Given the description of an element on the screen output the (x, y) to click on. 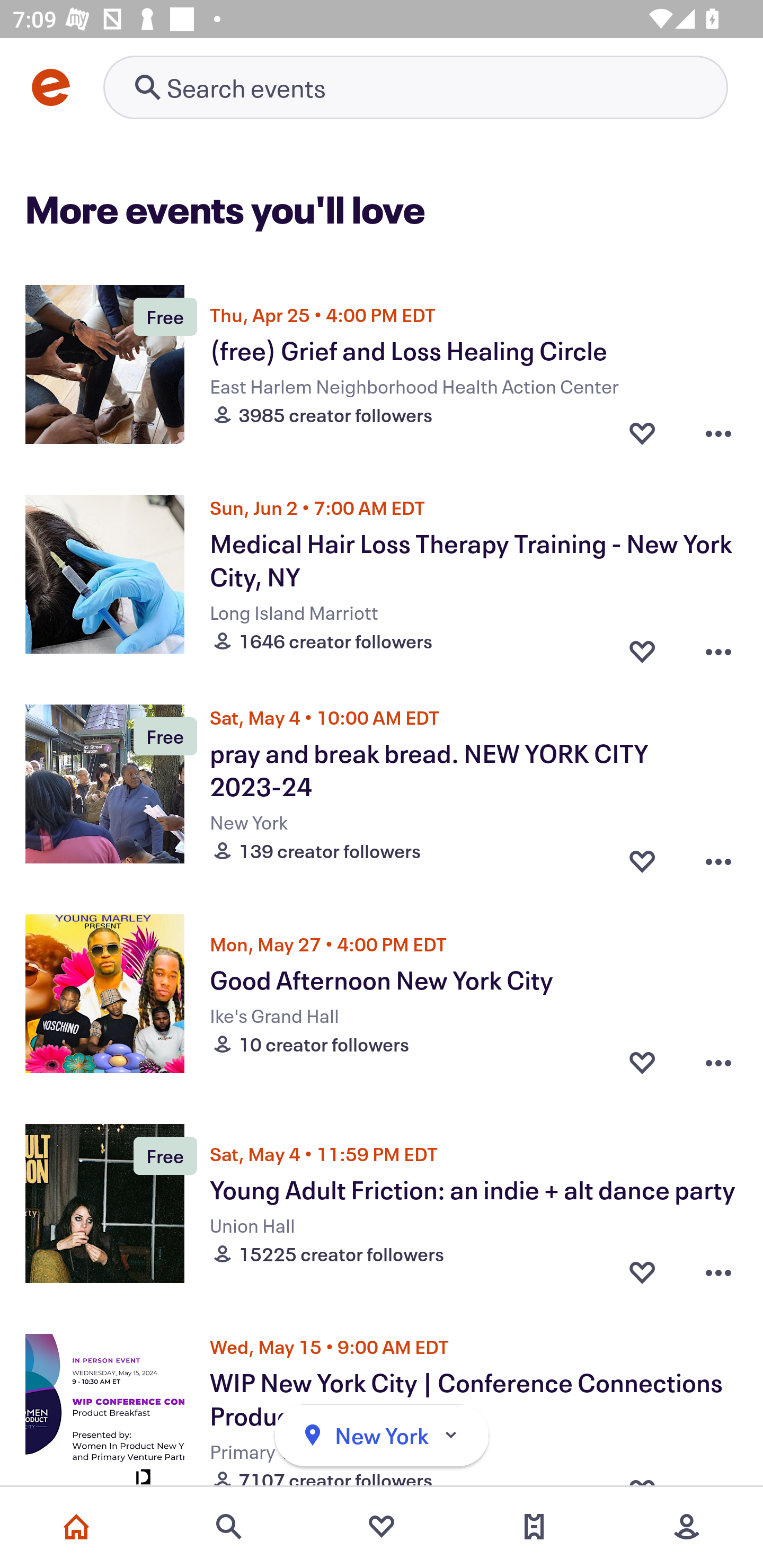
Retry's image Search events (415, 86)
Favorite button (642, 431)
Overflow menu button (718, 431)
Favorite button (642, 646)
Overflow menu button (718, 646)
Favorite button (642, 856)
Overflow menu button (718, 856)
Favorite button (642, 1062)
Overflow menu button (718, 1062)
Favorite button (642, 1271)
Overflow menu button (718, 1271)
New York (381, 1435)
Home (76, 1526)
Search events (228, 1526)
Favorites (381, 1526)
Tickets (533, 1526)
More (686, 1526)
